Given the description of an element on the screen output the (x, y) to click on. 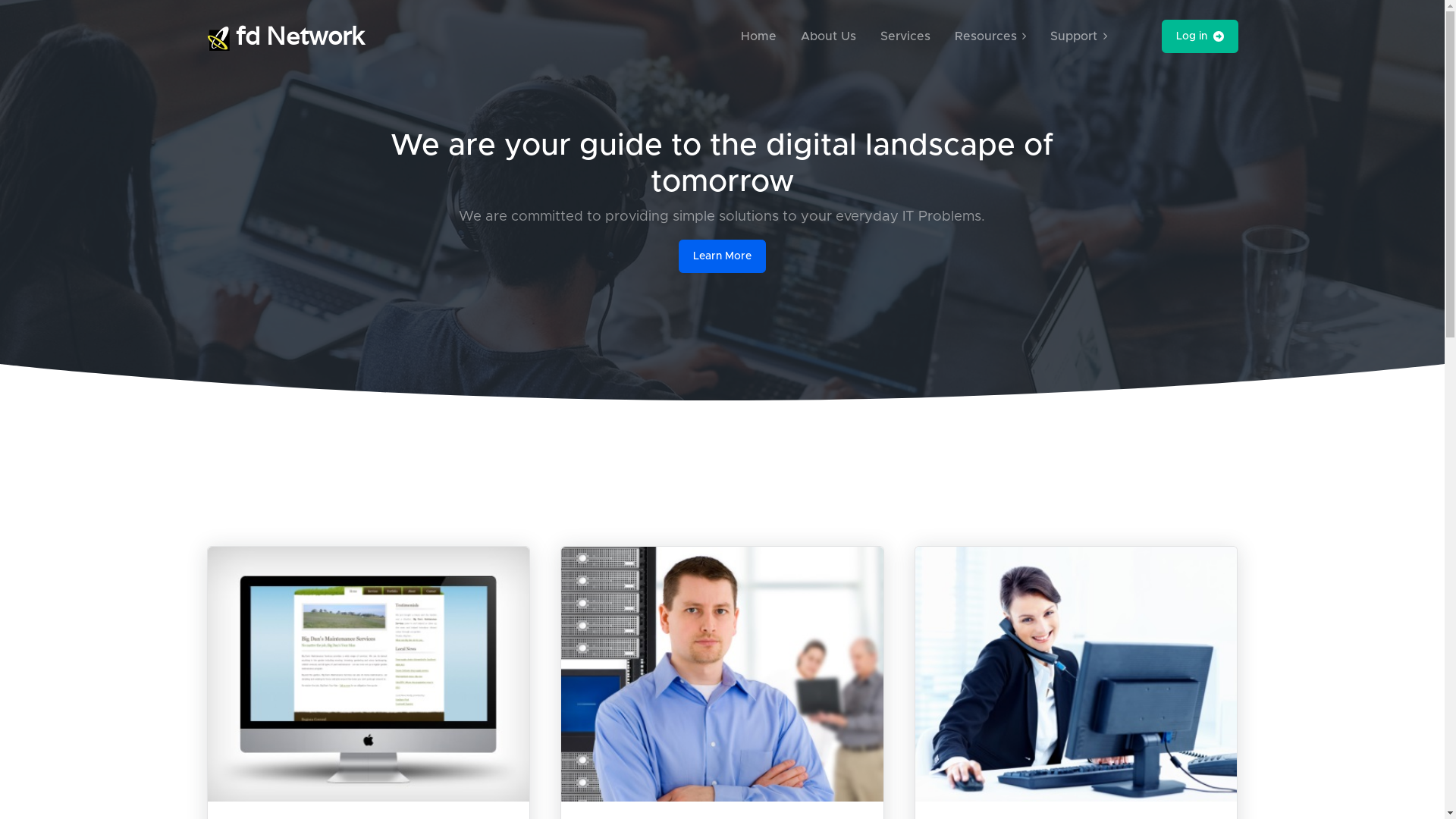
Services Element type: text (905, 36)
Learn More Element type: text (721, 256)
Log in Element type: text (1199, 36)
fd Network Logo Element type: hover (217, 38)
fd Network Element type: text (285, 36)
Support Element type: text (1078, 36)
About Us Element type: text (828, 36)
Home Element type: text (758, 36)
Resources Element type: text (990, 36)
